Given the description of an element on the screen output the (x, y) to click on. 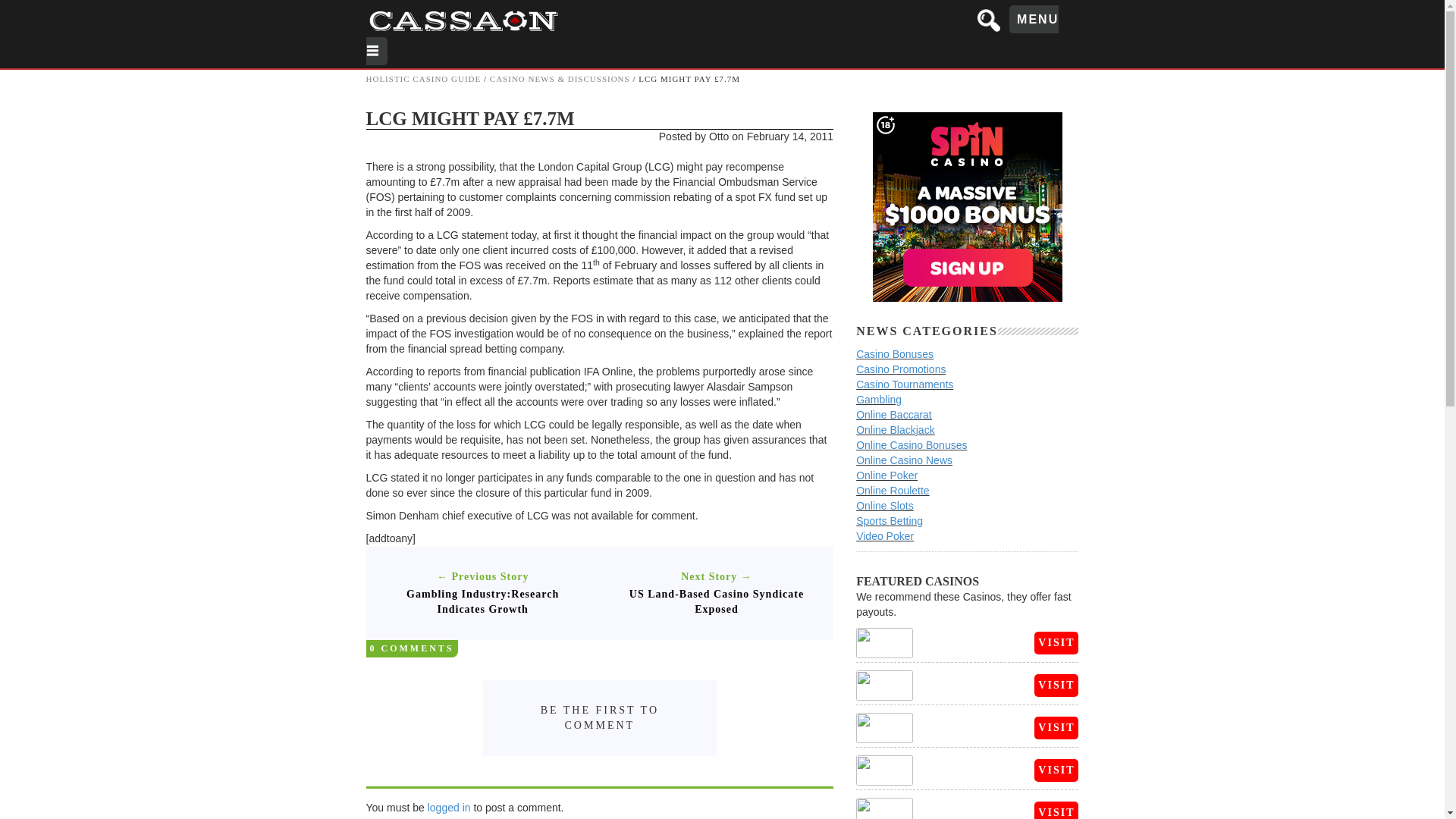
logged in (449, 807)
Search efter: (990, 19)
Casino Promotions (900, 369)
Online Baccarat (893, 414)
Search (24, 9)
Casino Bonuses (894, 354)
Online Roulette (893, 490)
Casino Tournaments (904, 384)
Online Slots (884, 505)
Online Casino News (904, 460)
Online Poker (886, 475)
US Land-Based Casino Syndicate Exposed (716, 602)
Online Blackjack (895, 429)
Gambling (878, 399)
VISIT (1055, 685)
